Given the description of an element on the screen output the (x, y) to click on. 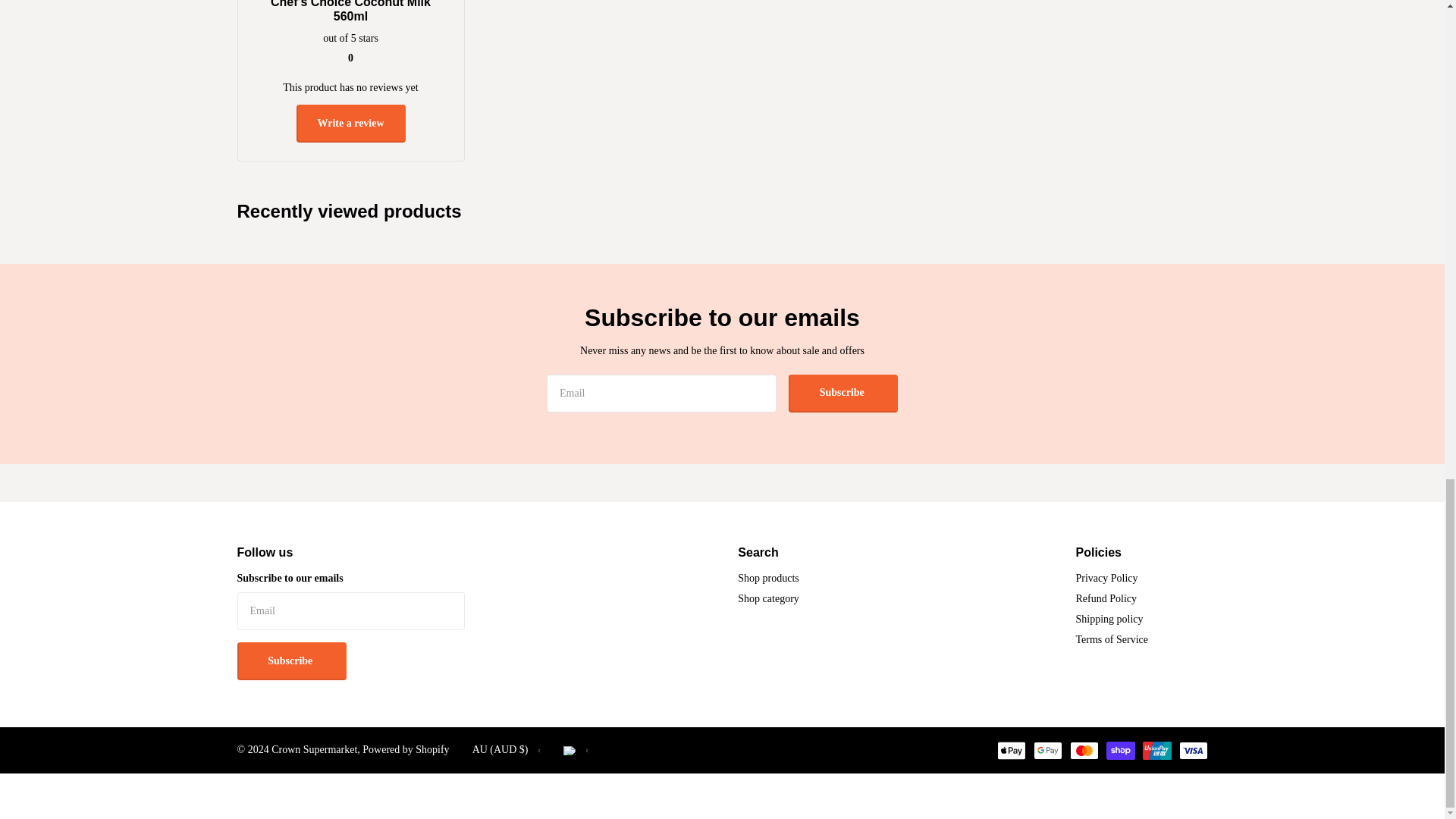
Shipping policy (1108, 618)
Terms of Service (1111, 639)
Refund Policy (1106, 598)
Google Pay (1046, 751)
Privacy Policy (1106, 577)
Shop products (768, 577)
Visa (1192, 751)
Apple Pay (1010, 751)
Mastercard (1082, 751)
Shop category (767, 598)
